Given the description of an element on the screen output the (x, y) to click on. 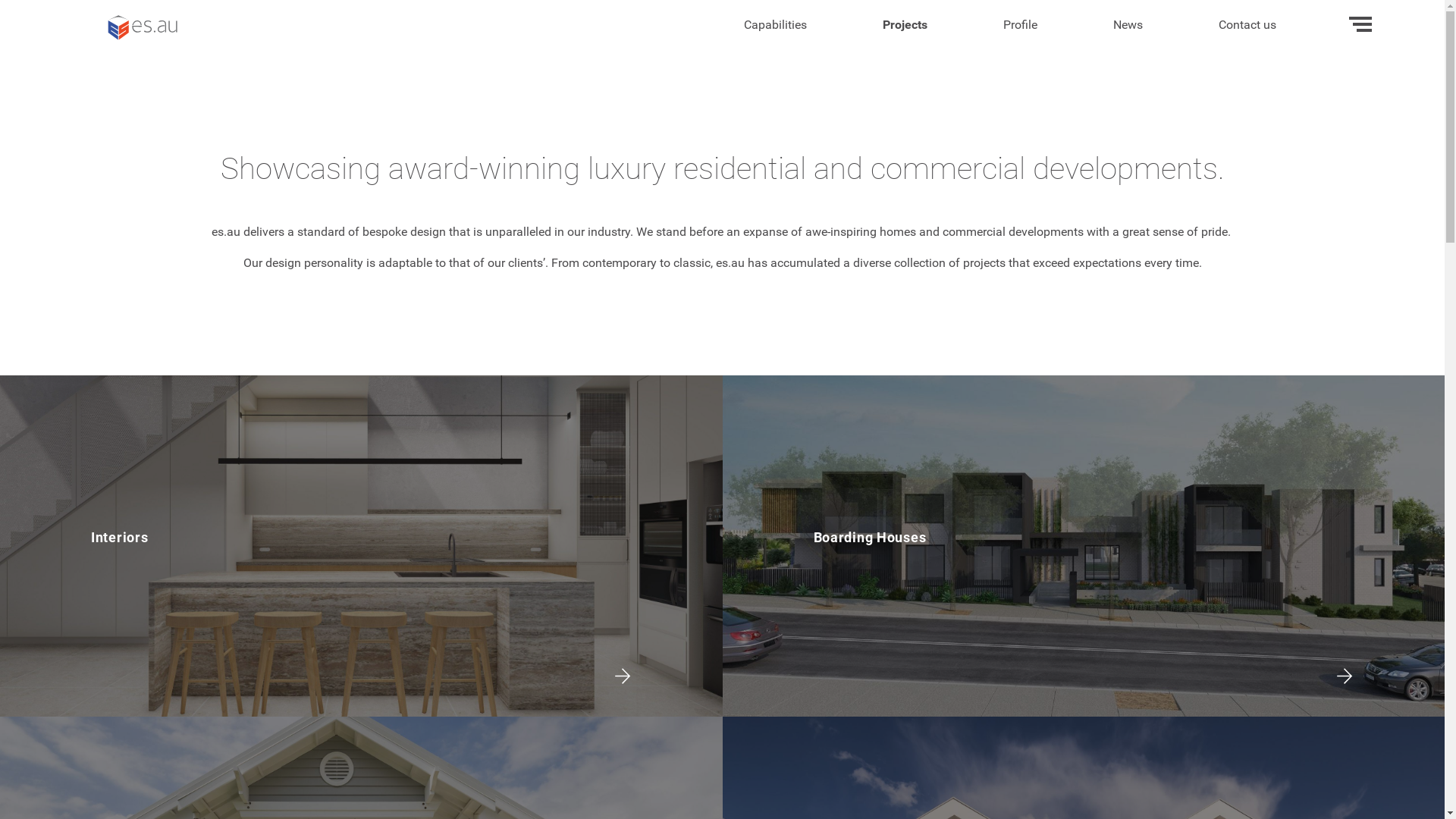
Projects Element type: text (904, 24)
News Element type: text (1127, 24)
Contact us Element type: text (1247, 24)
Capabilities Element type: text (774, 24)
Profile Element type: text (1020, 24)
